Given the description of an element on the screen output the (x, y) to click on. 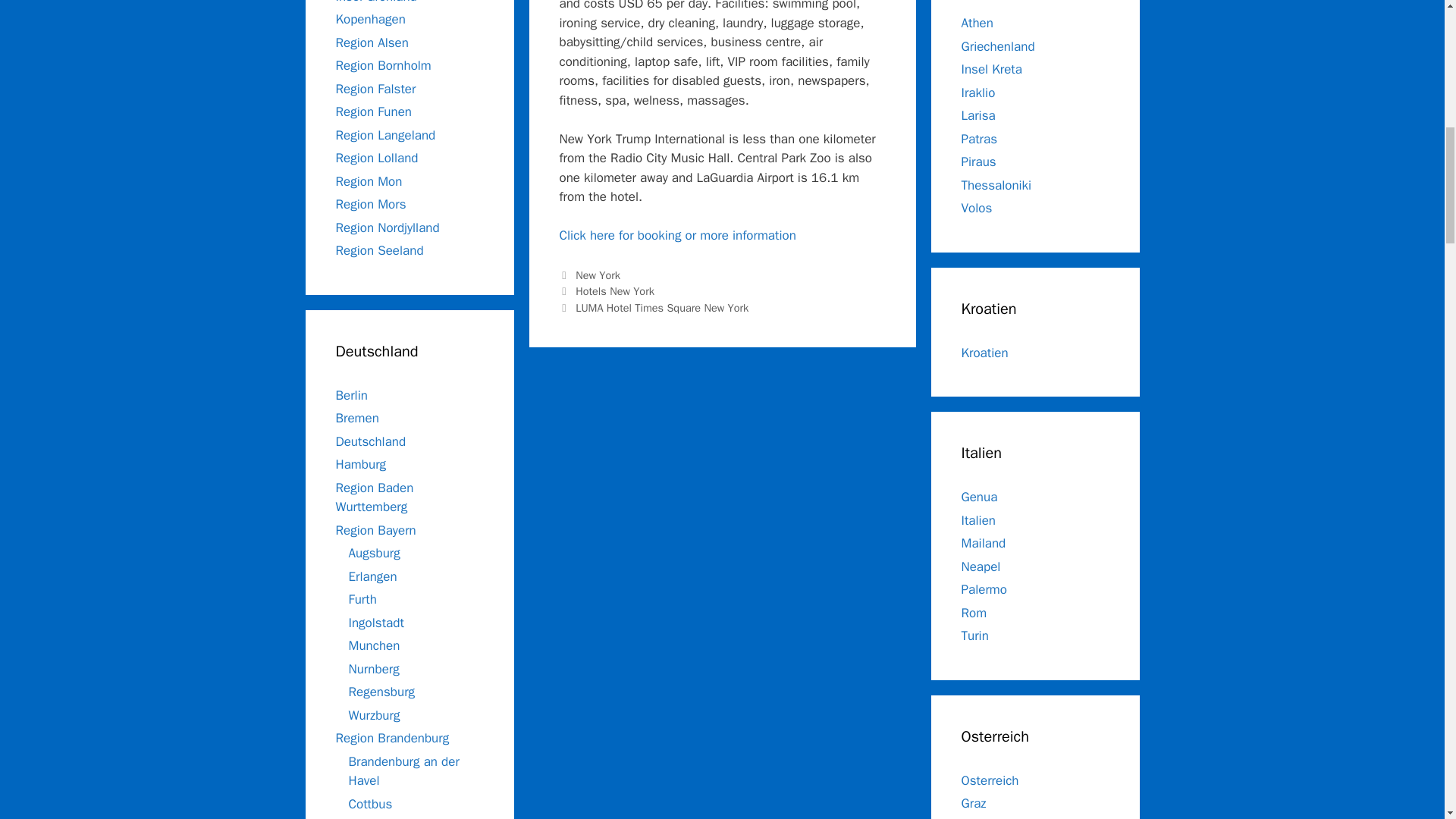
Region Funen (373, 111)
Region Alsen (370, 42)
New York (597, 274)
Deutschland (370, 441)
Region Seeland (378, 250)
Region Mon (367, 180)
Bremen (356, 417)
Augsburg (374, 553)
Region Langeland (384, 135)
Kopenhagen (369, 19)
Region Bayern (374, 529)
Region Baden Wurttemberg (373, 497)
Insel Gronland (375, 2)
Region Bornholm (382, 65)
Region Nordjylland (386, 227)
